Given the description of an element on the screen output the (x, y) to click on. 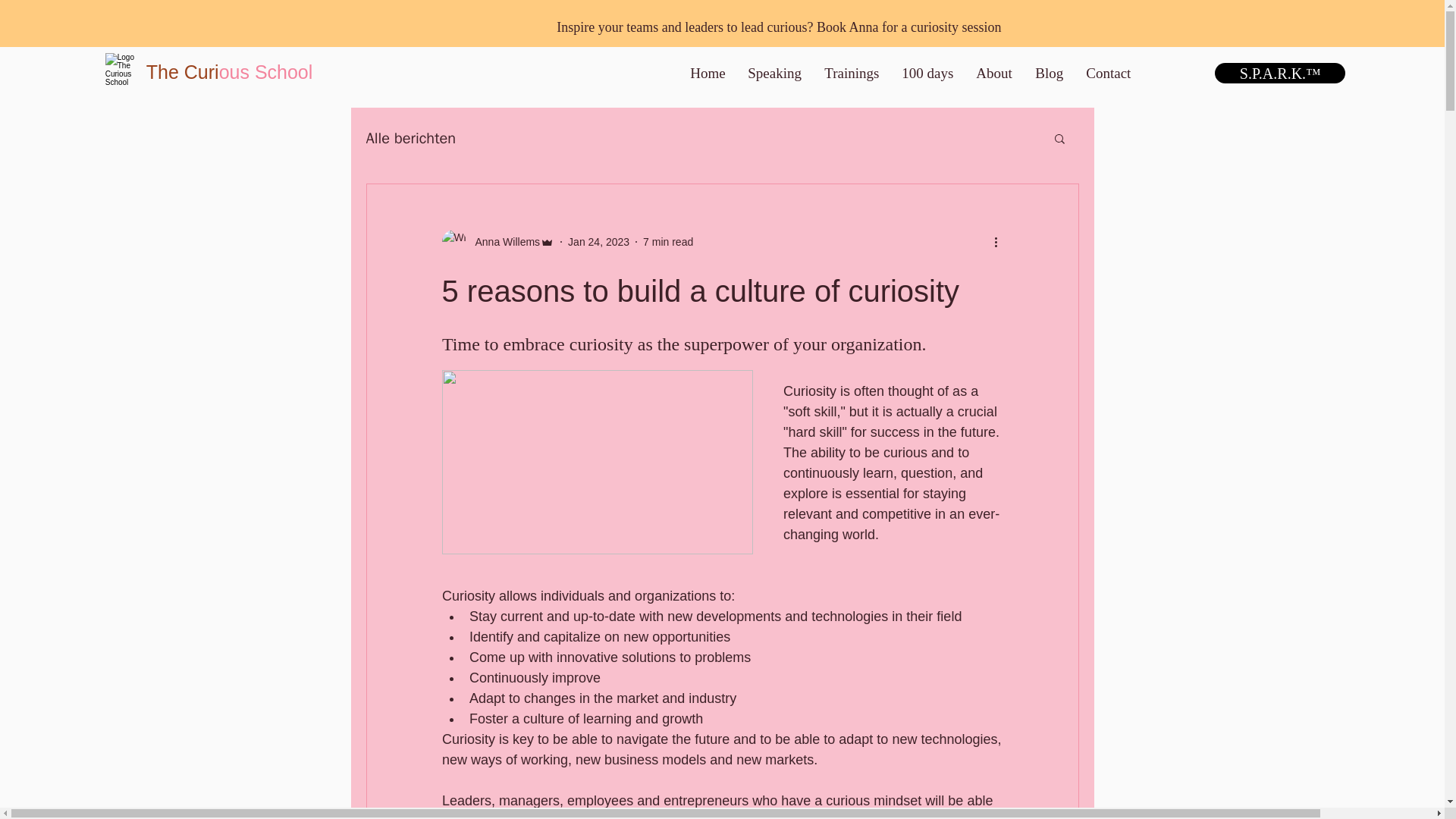
Alle berichten (410, 137)
Anna Willems  (502, 242)
Trainings (850, 72)
100 days (926, 72)
Jan 24, 2023 (597, 241)
7 min read (668, 241)
Blog (1048, 72)
About (993, 72)
Speaking (774, 72)
Logo The Curious School (122, 71)
Contact (1107, 72)
Home (707, 72)
